Given the description of an element on the screen output the (x, y) to click on. 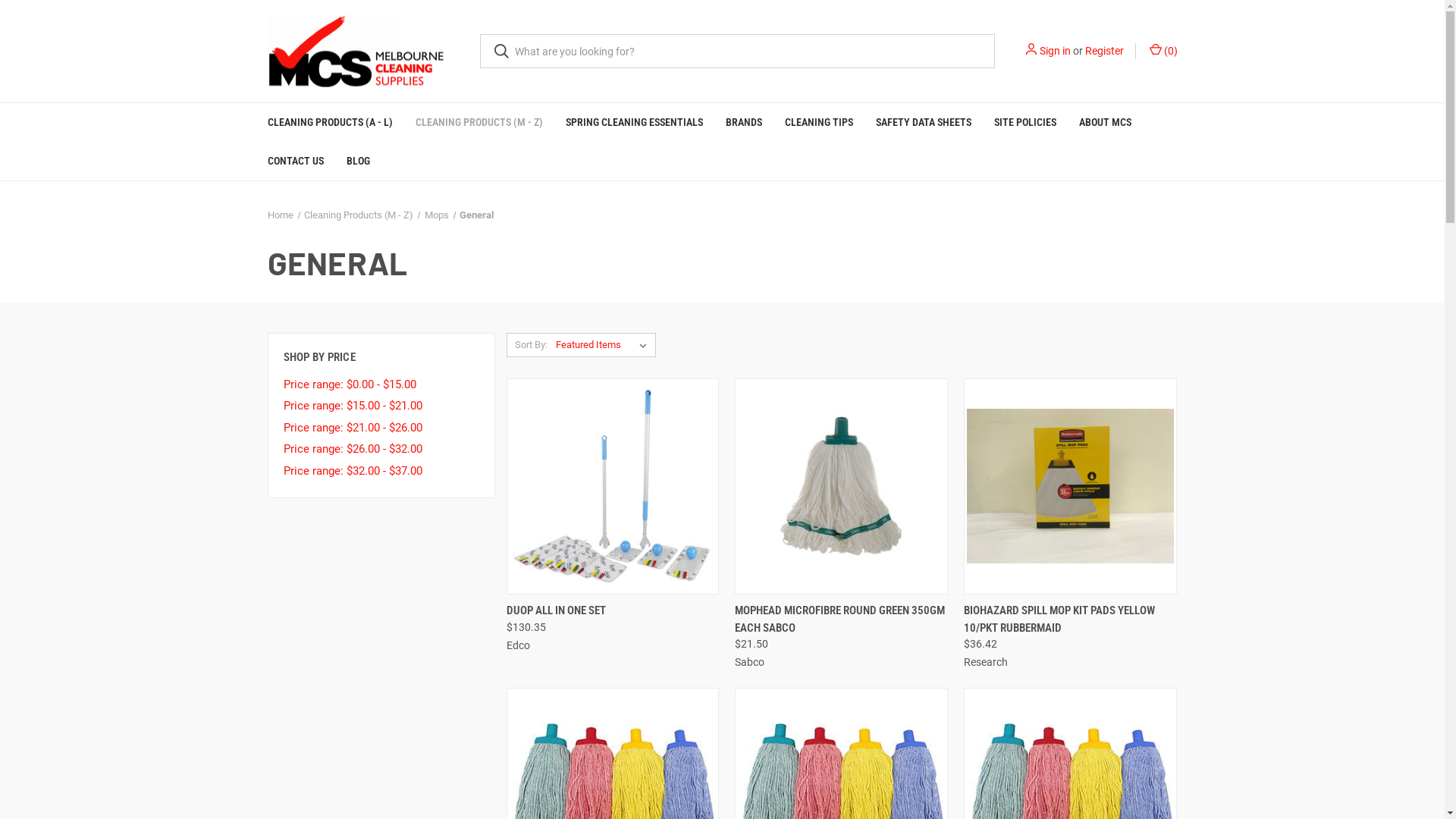
SPRING CLEANING ESSENTIALS Element type: text (633, 122)
SITE POLICIES Element type: text (1024, 122)
QUICK VIEW Element type: text (1015, 605)
CLEANING TIPS Element type: text (818, 122)
BIOHAZARD SPILL MOP KIT PADS YELLOW 10/PKT RUBBERMAID Element type: text (1069, 619)
Sign in Element type: text (1054, 51)
(0) Element type: text (1161, 51)
Price range: $32.00 - $37.00 Element type: text (381, 471)
Register Element type: text (1103, 51)
CLEANING PRODUCTS (A - L) Element type: text (330, 122)
Price range: $0.00 - $15.00 Element type: text (381, 384)
QUICK VIEW Element type: text (557, 605)
Mophead Microfibre Round Green 350GM Each Sabco Element type: hover (840, 486)
Price range: $21.00 - $26.00 Element type: text (381, 428)
DUOP ALL IN ONE SET Element type: text (555, 610)
BLOG Element type: text (358, 160)
ABOUT MCS Element type: text (1104, 122)
Home Element type: text (279, 214)
Melbourne Cleaning Supplies Element type: hover (354, 51)
Cleaning Products (M - Z) Element type: text (358, 214)
QUICK VIEW Element type: text (786, 605)
Edco Duop all in one set Element type: hover (612, 485)
Biohazard Spill Mop Kit Pads Yellow 10/PKT Rubbermaid Element type: hover (1069, 486)
CLEANING PRODUCTS (M - Z) Element type: text (478, 122)
Price range: $26.00 - $32.00 Element type: text (381, 449)
Mops Element type: text (436, 214)
SAFETY DATA SHEETS Element type: text (923, 122)
CONTACT US Element type: text (295, 160)
BRANDS Element type: text (743, 122)
MOPHEAD MICROFIBRE ROUND GREEN 350GM EACH SABCO Element type: text (840, 619)
General Element type: text (476, 214)
Price range: $15.00 - $21.00 Element type: text (381, 406)
